Given the description of an element on the screen output the (x, y) to click on. 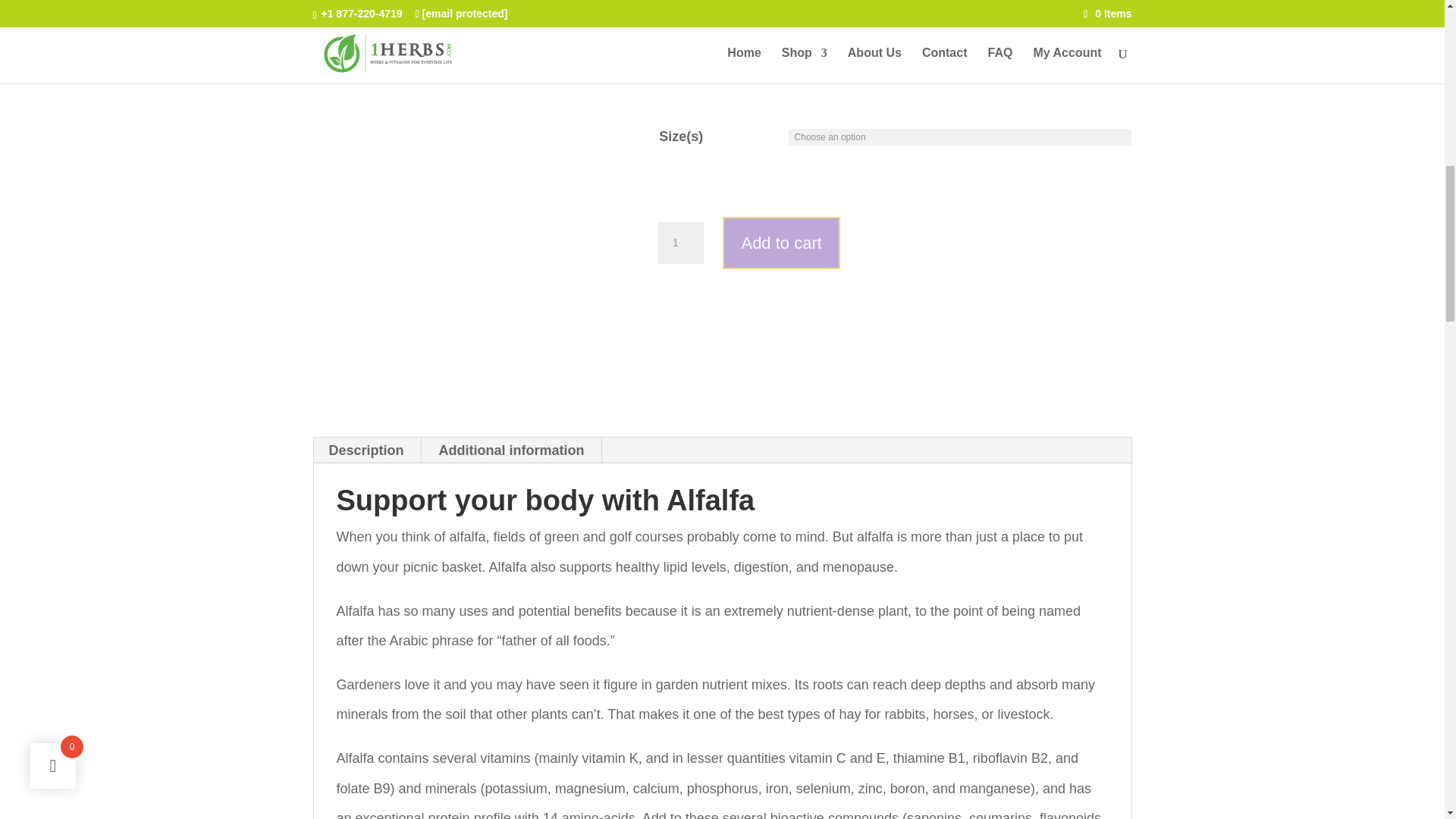
Add to cart (781, 243)
1 (680, 242)
Description (366, 450)
Additional information (511, 450)
